Given the description of an element on the screen output the (x, y) to click on. 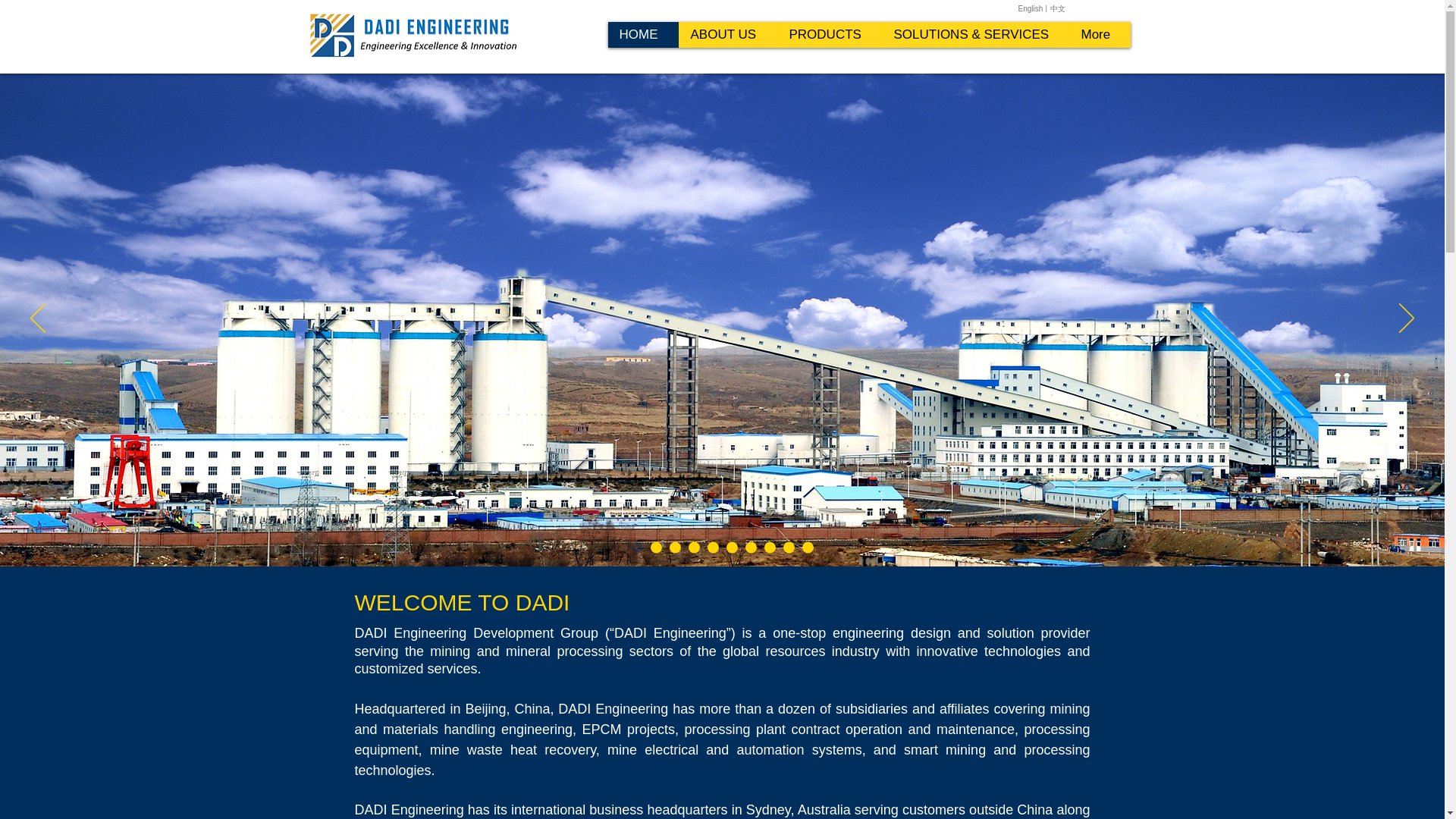
HOME (643, 34)
PRODUCTS (828, 34)
ABOUT US (727, 34)
English (1029, 8)
